Given the description of an element on the screen output the (x, y) to click on. 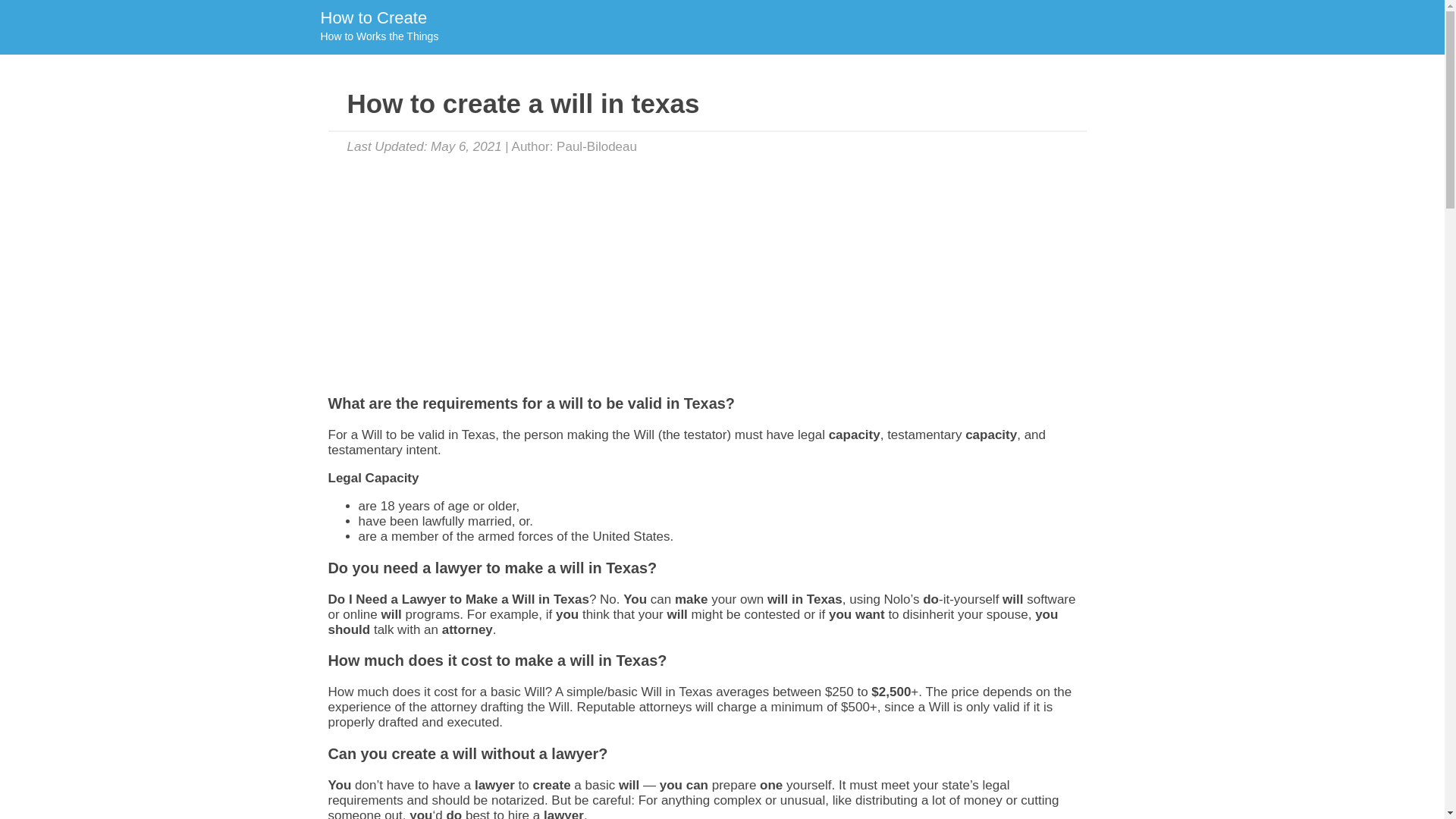
Paul-Bilodeau (596, 146)
